Given the description of an element on the screen output the (x, y) to click on. 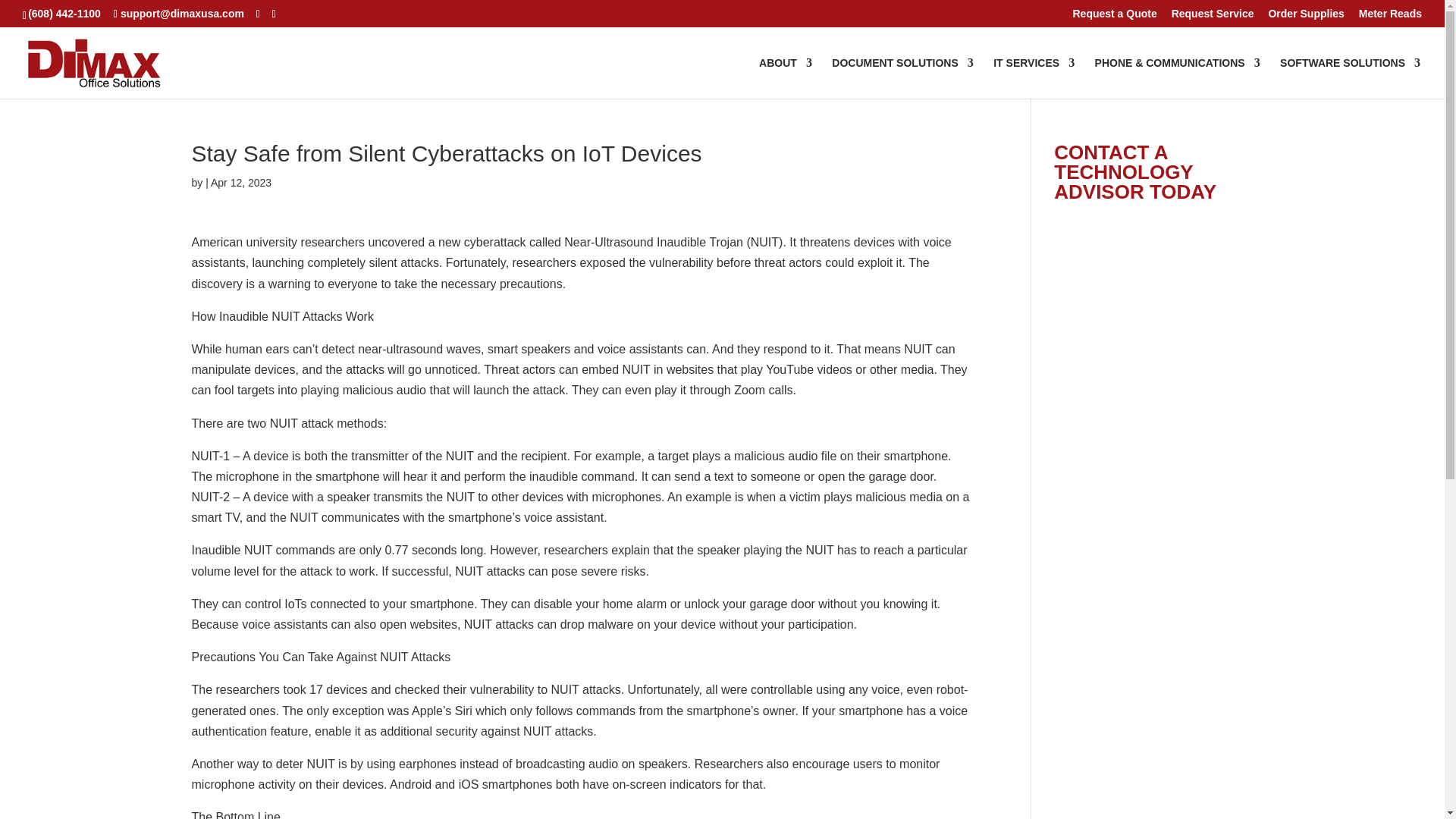
Meter Reads (1390, 16)
IT SERVICES (1033, 77)
Request a Quote (1113, 16)
SOFTWARE SOLUTIONS (1350, 77)
ABOUT (785, 77)
Request Service (1212, 16)
Order Supplies (1305, 16)
DOCUMENT SOLUTIONS (901, 77)
